Given the description of an element on the screen output the (x, y) to click on. 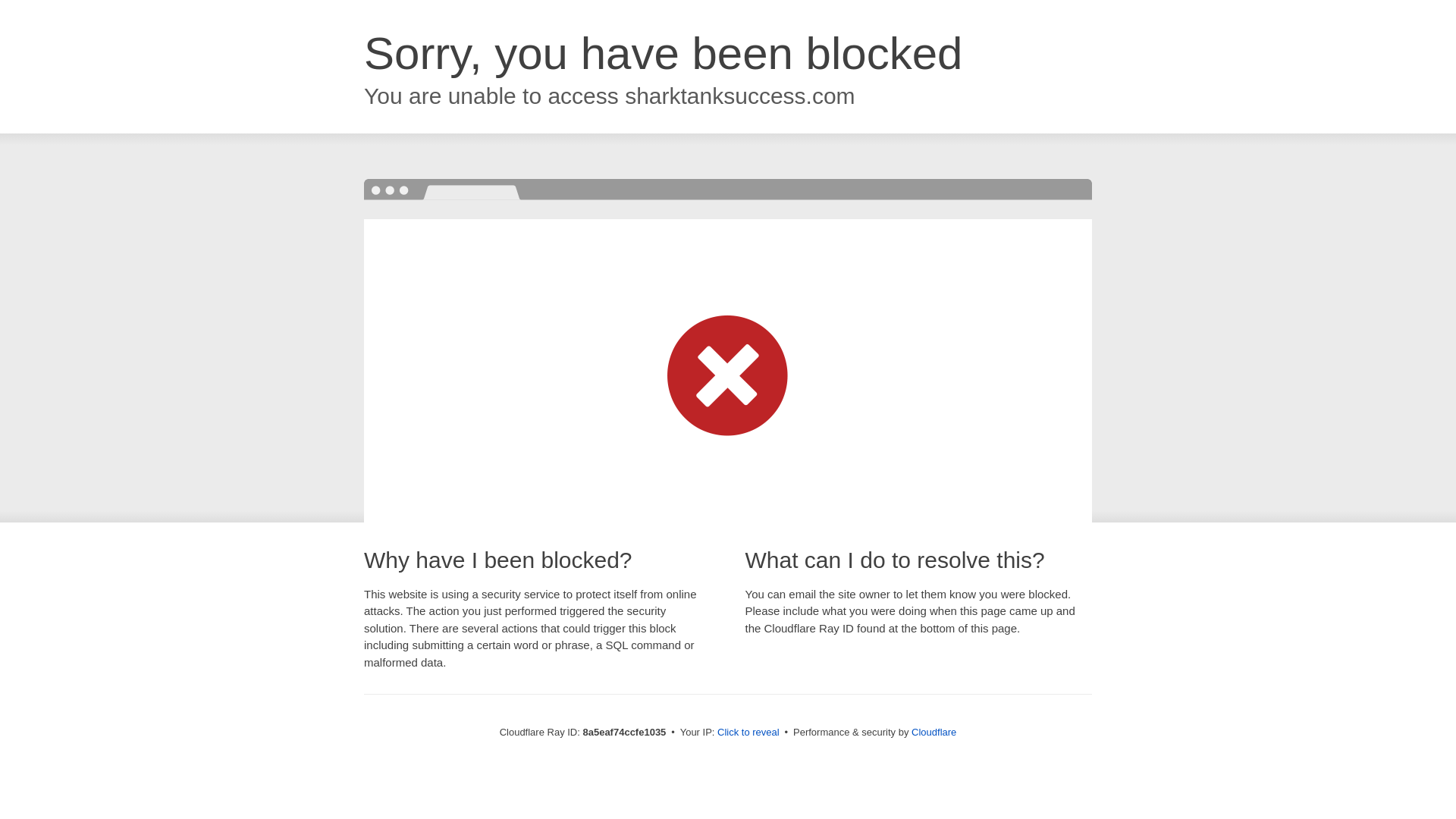
Cloudflare (933, 731)
Click to reveal (747, 732)
